Given the description of an element on the screen output the (x, y) to click on. 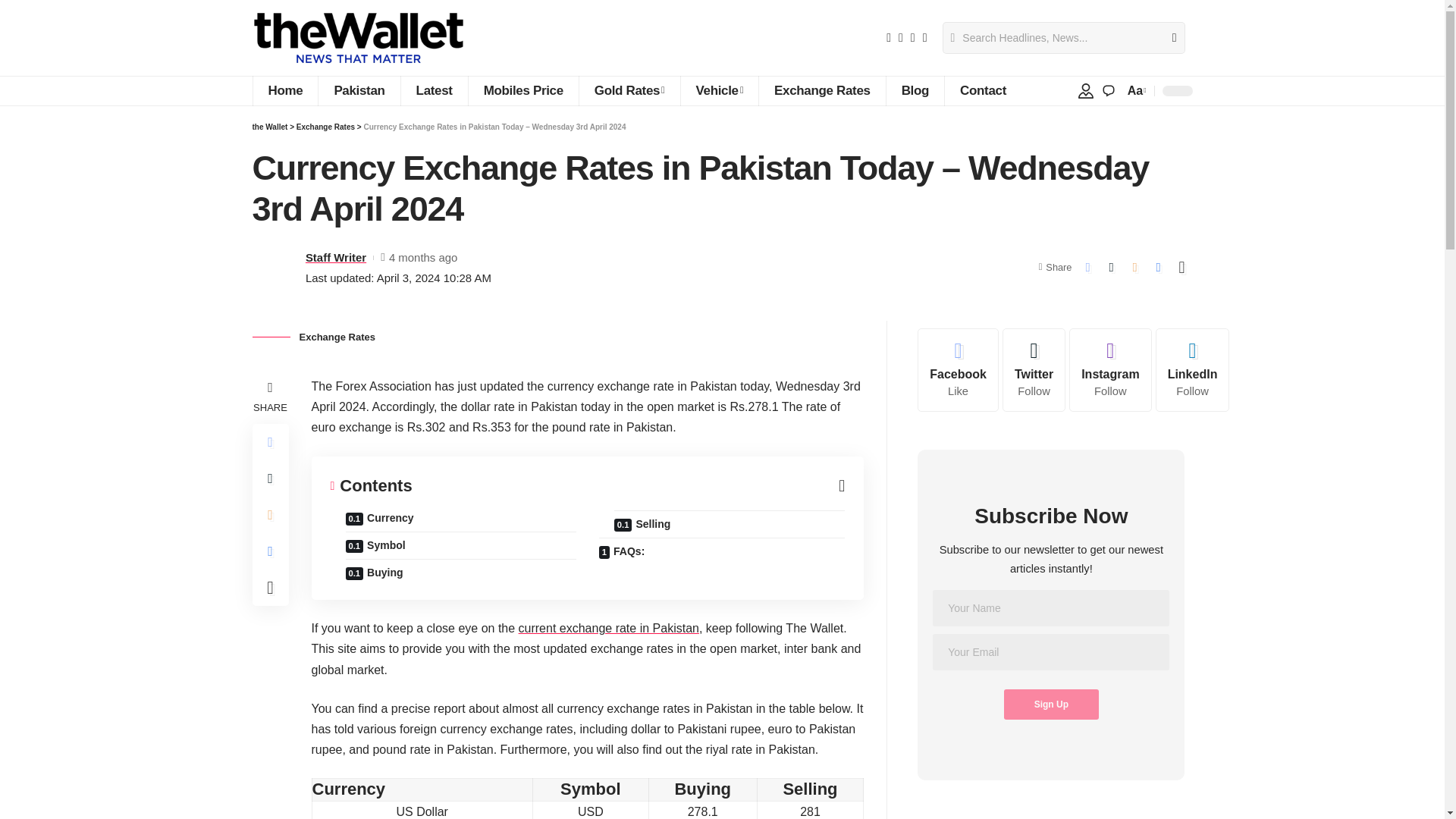
Aa (1135, 90)
the Wallet (357, 37)
Exchange Rates (821, 91)
Vehicle (718, 91)
Blog (914, 91)
Go to the Exchange Rates Category archives. (326, 126)
Mobiles Price (522, 91)
Home (284, 91)
Sign Up (1051, 704)
Latest (433, 91)
Contact (982, 91)
Gold Rates (628, 91)
Pakistan (357, 91)
Search (1168, 37)
Go to the Wallet. (268, 126)
